Given the description of an element on the screen output the (x, y) to click on. 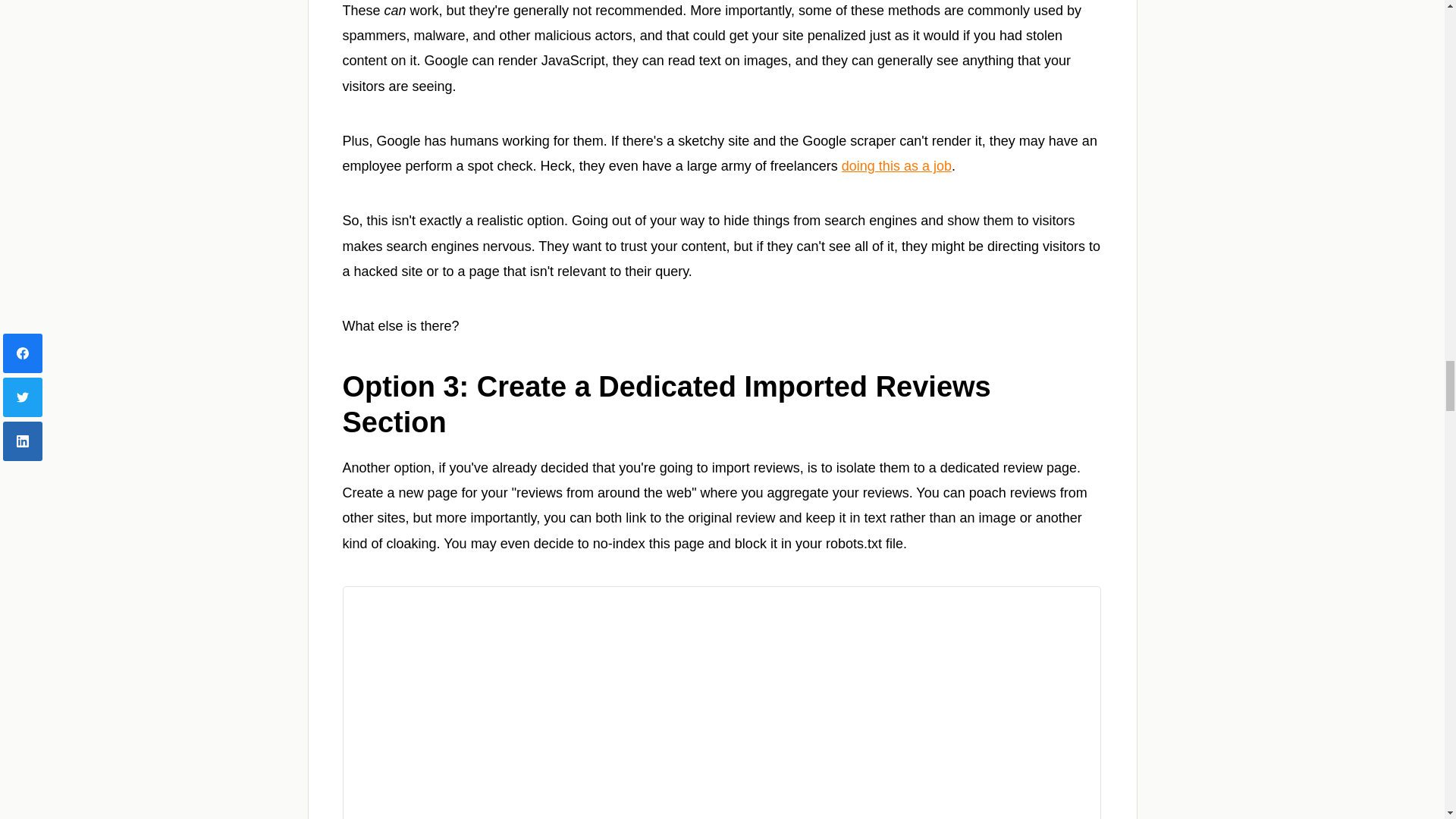
doing this as a job (896, 165)
